Given the description of an element on the screen output the (x, y) to click on. 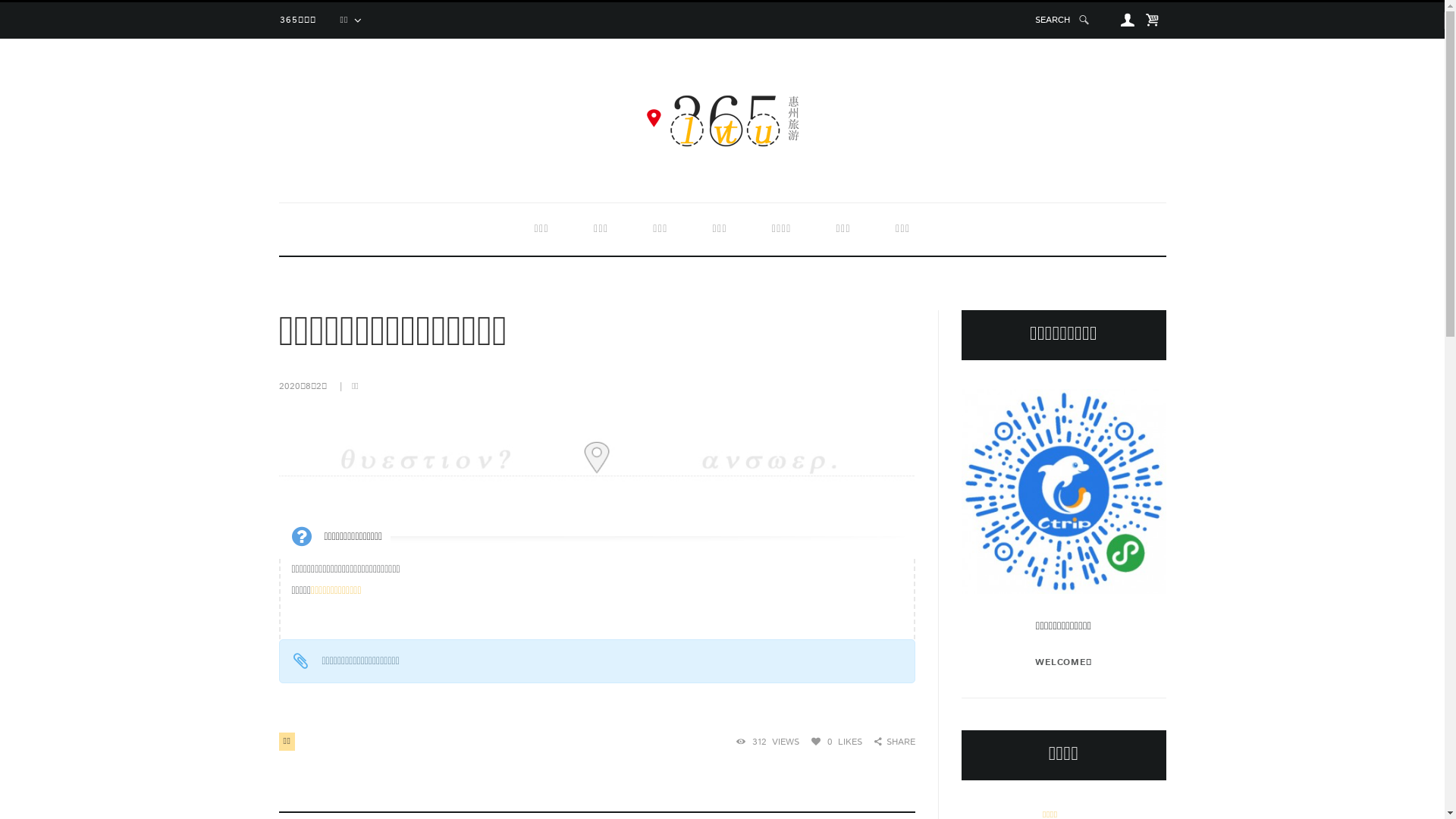
0 LIKES Element type: text (836, 742)
SEARCH Element type: text (1063, 19)
SHARE Element type: text (894, 742)
